Given the description of an element on the screen output the (x, y) to click on. 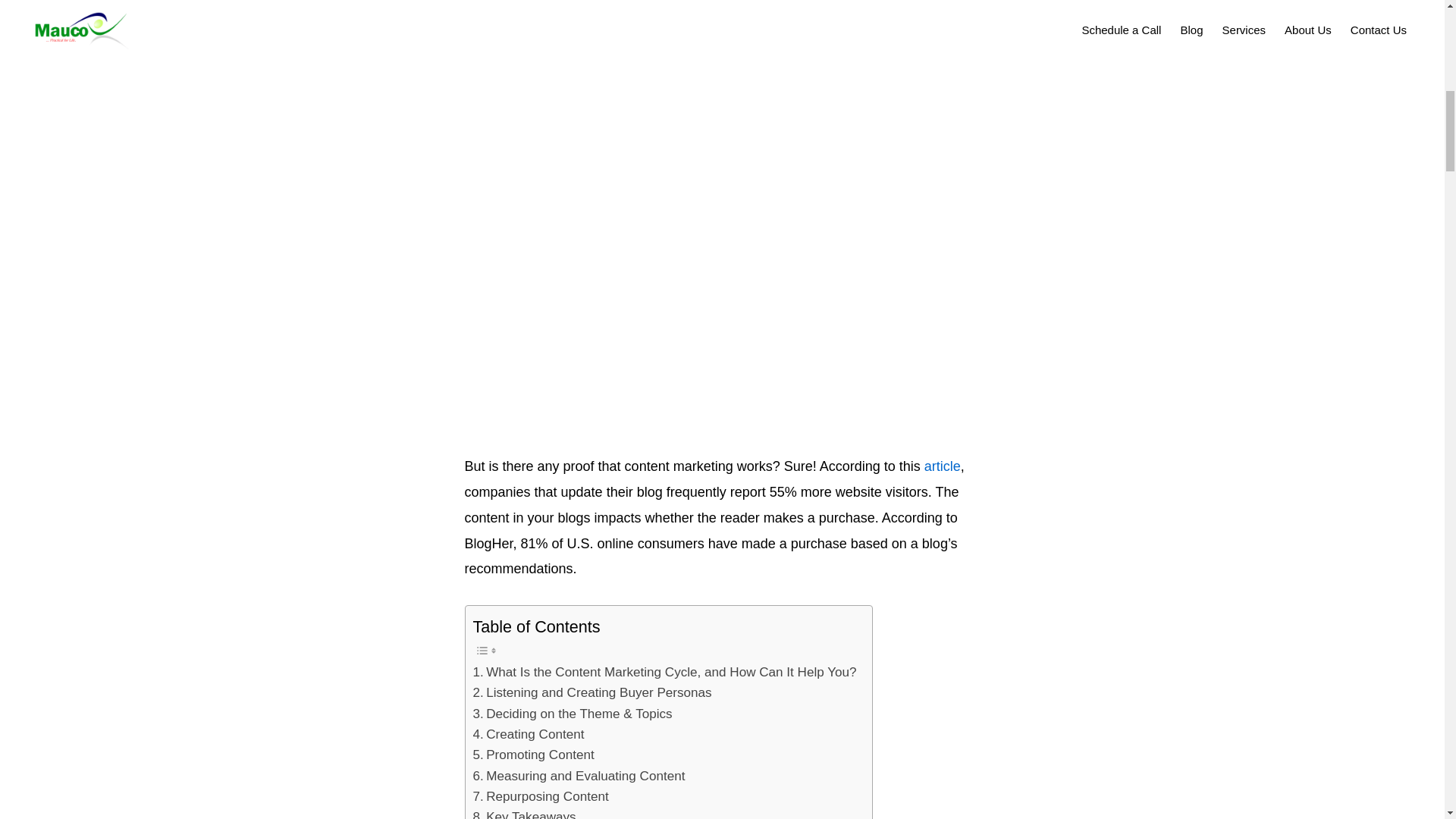
Measuring and Evaluating Content (579, 775)
Promoting Content (533, 754)
Key Takeaways (524, 812)
Repurposing Content (540, 796)
article (942, 466)
Measuring and Evaluating Content (579, 775)
Repurposing Content (540, 796)
Promoting Content (533, 754)
